Given the description of an element on the screen output the (x, y) to click on. 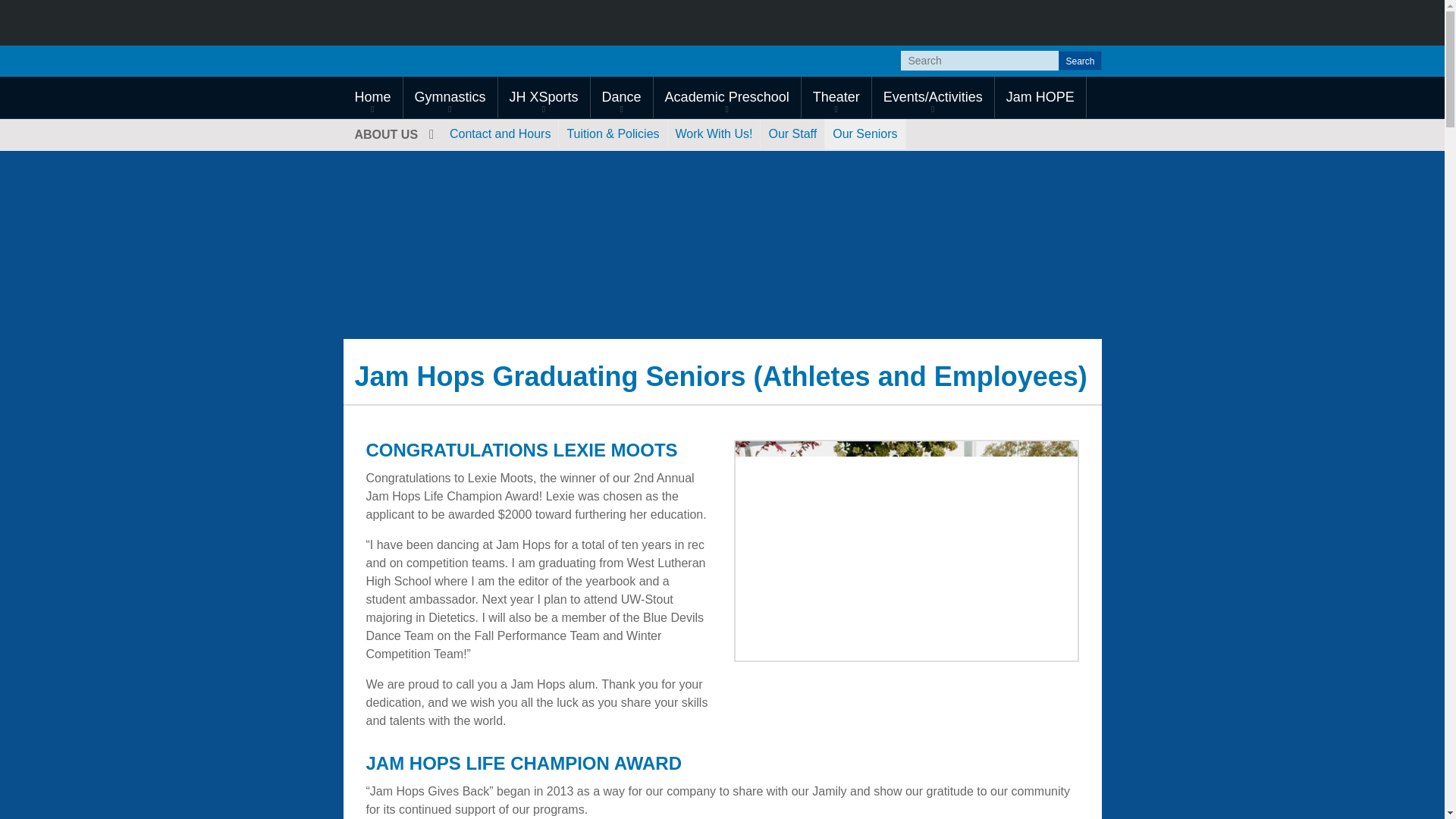
Work With Us! (714, 133)
click to go to 'Jam Hops Dance Program' (621, 96)
click to go to 'Join the Jamily!' (714, 133)
Jam HOPE (1040, 96)
click to go to 'Our Staff' (792, 133)
Contact and Hours (499, 133)
Dance (621, 96)
ABOUT US (392, 133)
JH XSports (543, 96)
click to go to 'Upstage Productions' (836, 96)
